Given the description of an element on the screen output the (x, y) to click on. 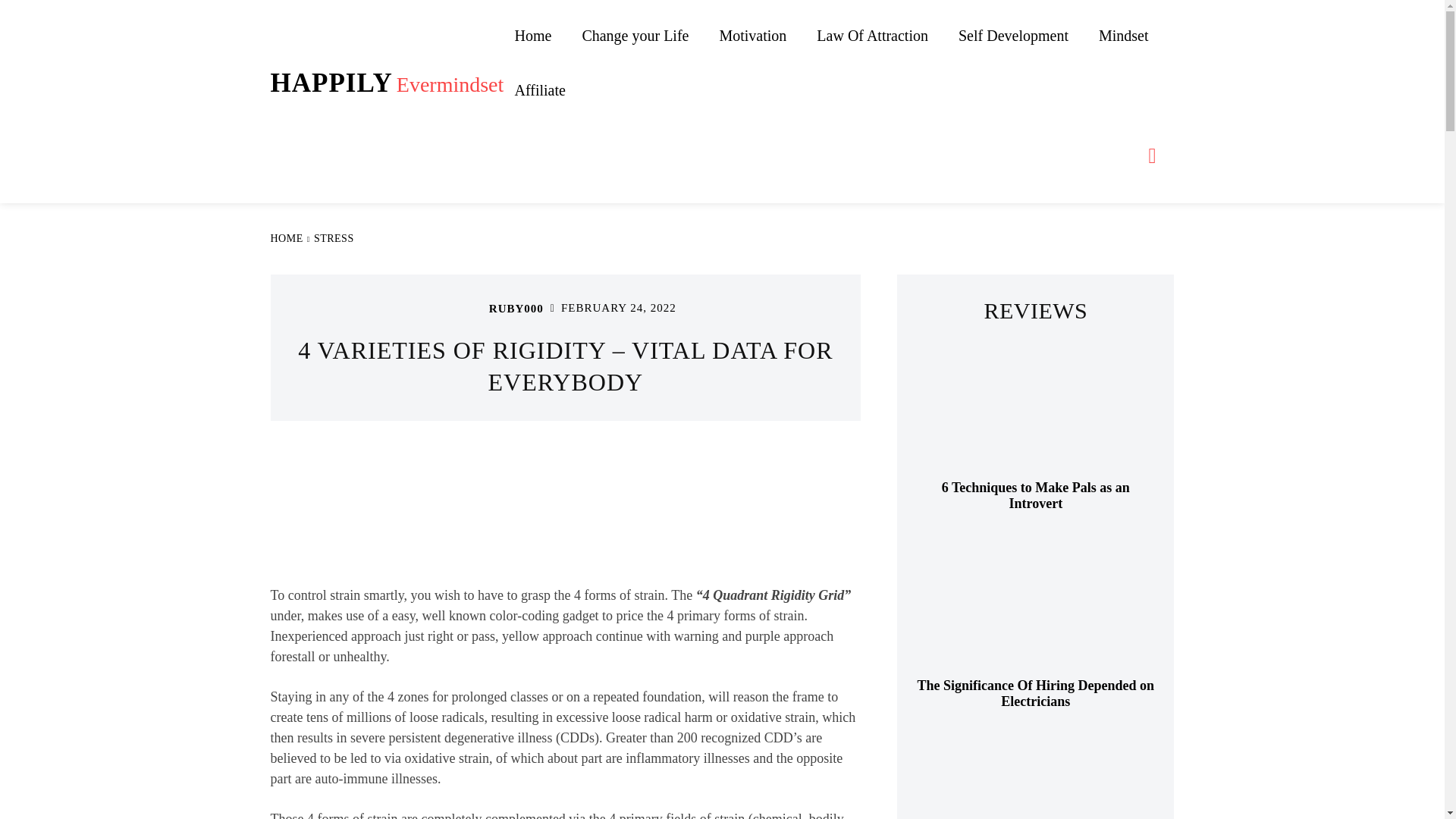
Self Development (1013, 35)
Ruby000 (469, 308)
Affiliate (539, 90)
View all posts in Stress (333, 238)
Law Of Attraction (872, 35)
6 Techniques to Make Pals as an Introvert (1035, 495)
The Significance Of Hiring Depended on Electricians (1035, 607)
6 Techniques to Make Pals as an Introvert (1035, 409)
The Significance Of Hiring Depended on Electricians (1035, 694)
Mindset (1123, 35)
